Given the description of an element on the screen output the (x, y) to click on. 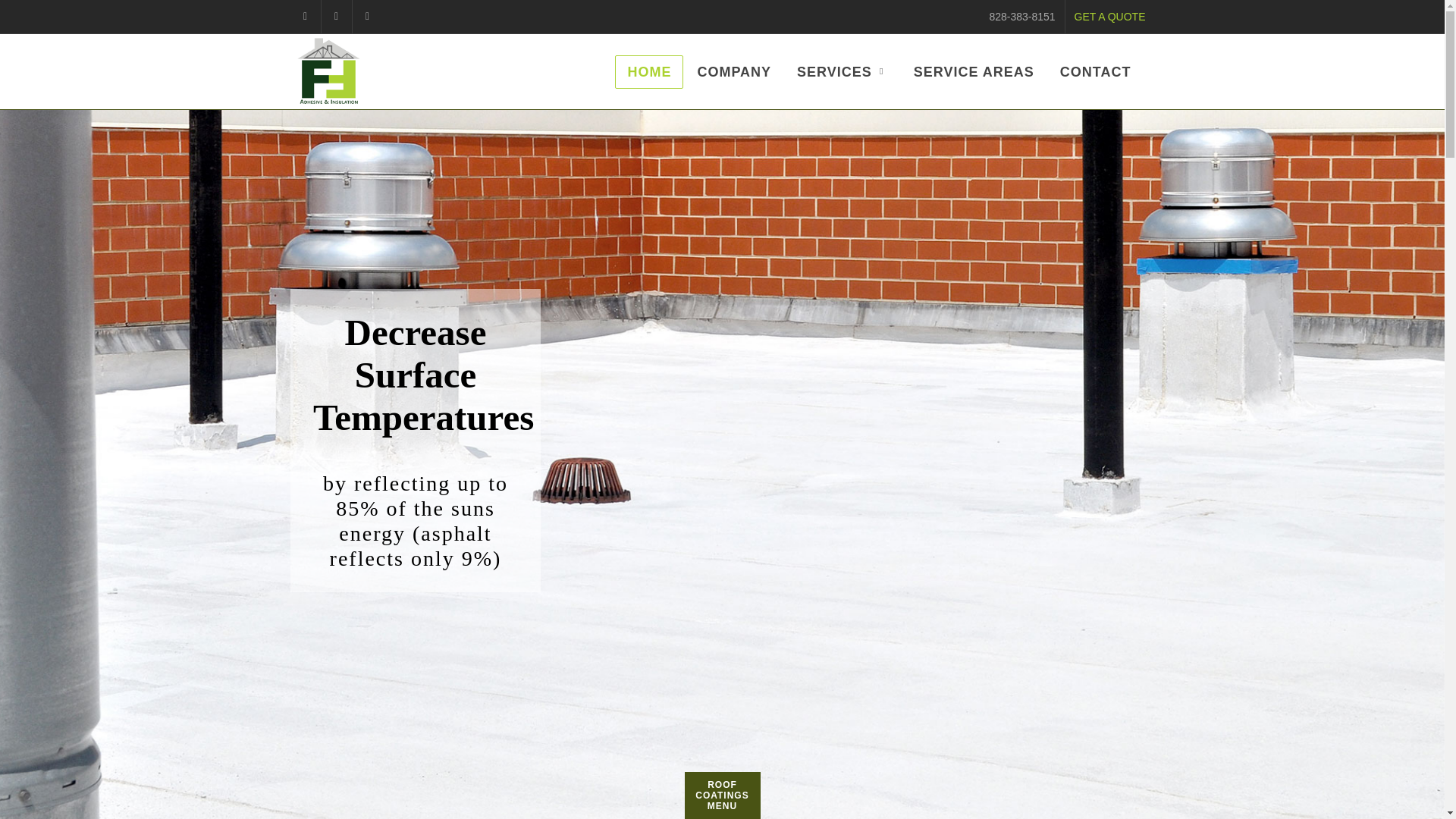
828-383-8151 (1021, 16)
HOME (648, 71)
GET A QUOTE (1109, 16)
CONTACT (1095, 71)
COMPANY (733, 71)
SERVICES (841, 71)
SERVICE AREAS (973, 71)
